Given the description of an element on the screen output the (x, y) to click on. 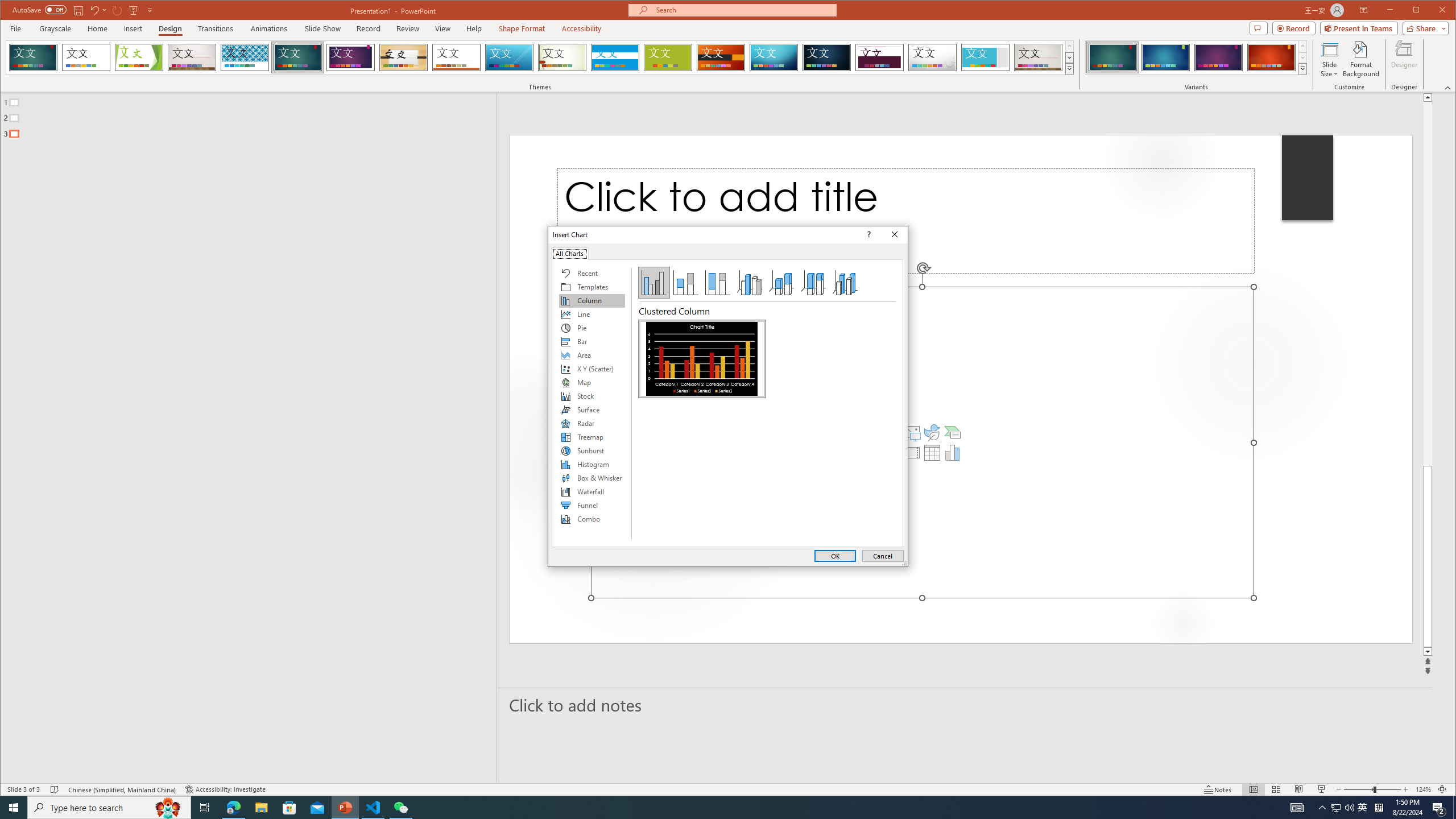
Variants (1302, 68)
Dividend (879, 57)
Ion Variant 2 (1165, 57)
OK (834, 555)
Office Theme (85, 57)
Box & Whisker (591, 477)
Cancel (882, 555)
